Given the description of an element on the screen output the (x, y) to click on. 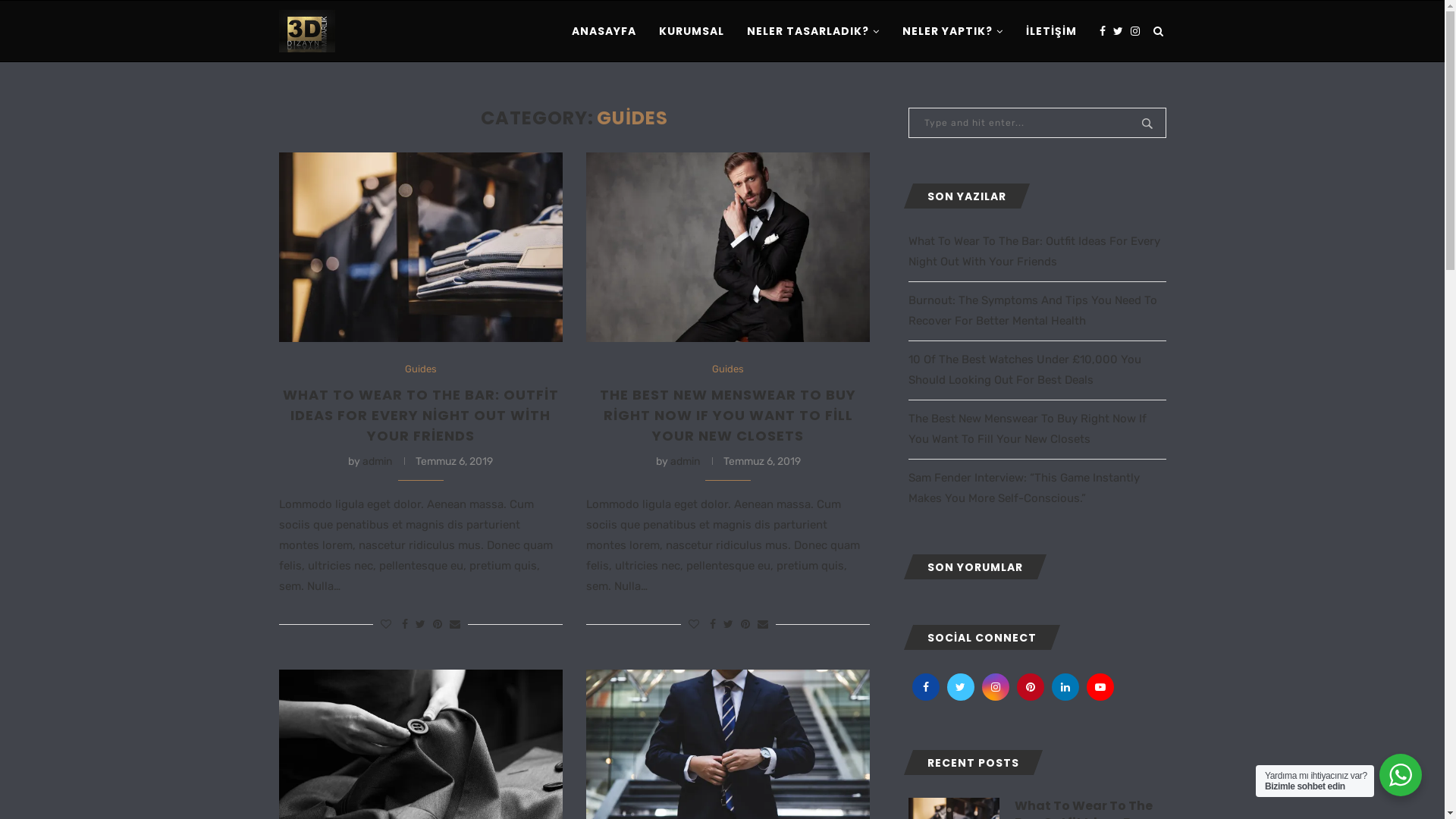
Guides Element type: text (727, 369)
Guides Element type: text (420, 369)
NELER TASARLADIK? Element type: text (812, 31)
admin Element type: text (377, 461)
NELER YAPTIK? Element type: text (952, 31)
ANASAYFA Element type: text (603, 30)
Like Element type: hover (385, 624)
KURUMSAL Element type: text (690, 30)
Like Element type: hover (693, 624)
admin Element type: text (684, 461)
